Given the description of an element on the screen output the (x, y) to click on. 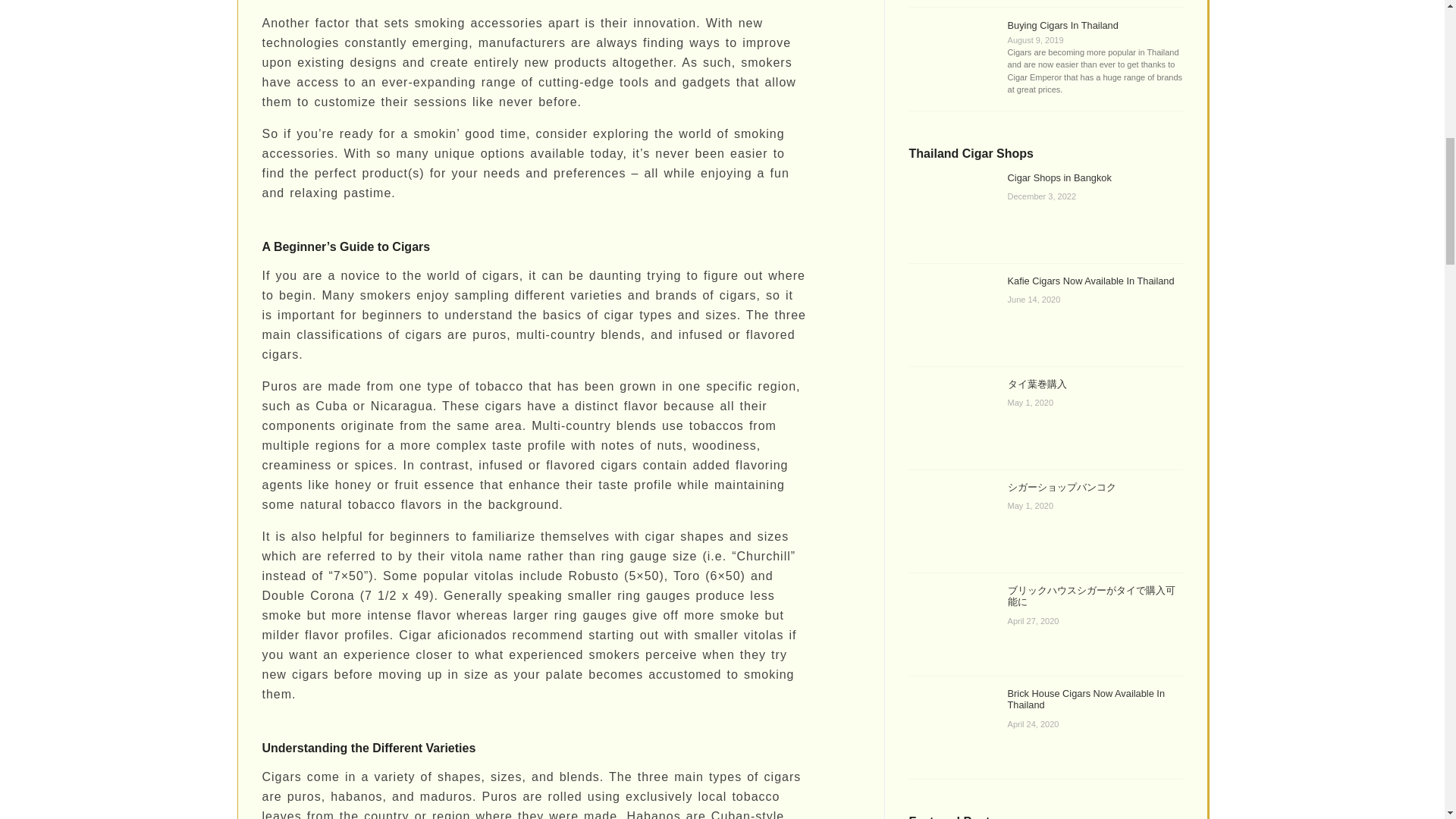
Kafie Cigars Now Available In Thailand (1090, 280)
Cigar Shops in Bangkok (1059, 177)
Buying Cigars In Thailand (1062, 25)
